Given the description of an element on the screen output the (x, y) to click on. 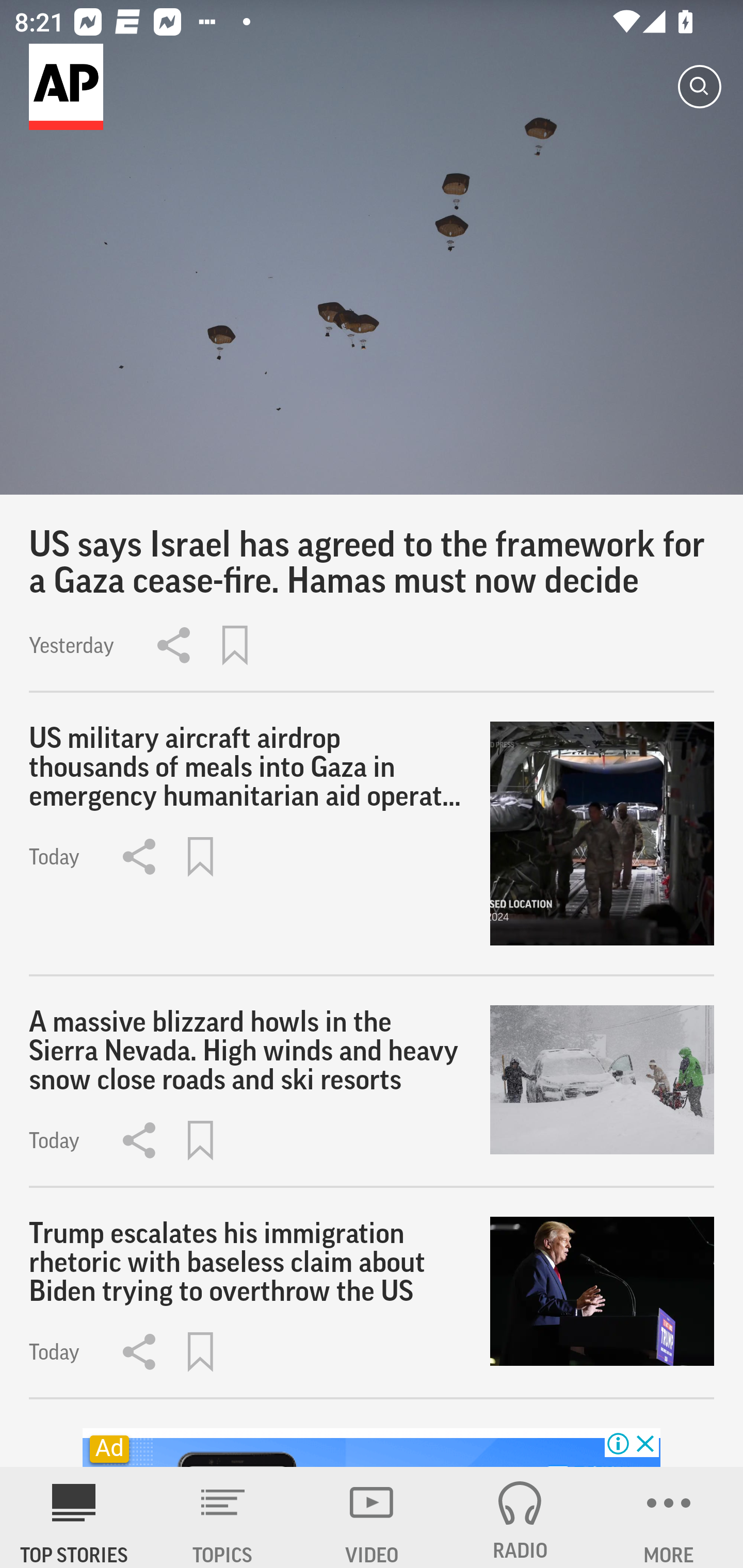
AP News TOP STORIES (74, 1517)
TOPICS (222, 1517)
VIDEO (371, 1517)
RADIO (519, 1517)
MORE (668, 1517)
